Given the description of an element on the screen output the (x, y) to click on. 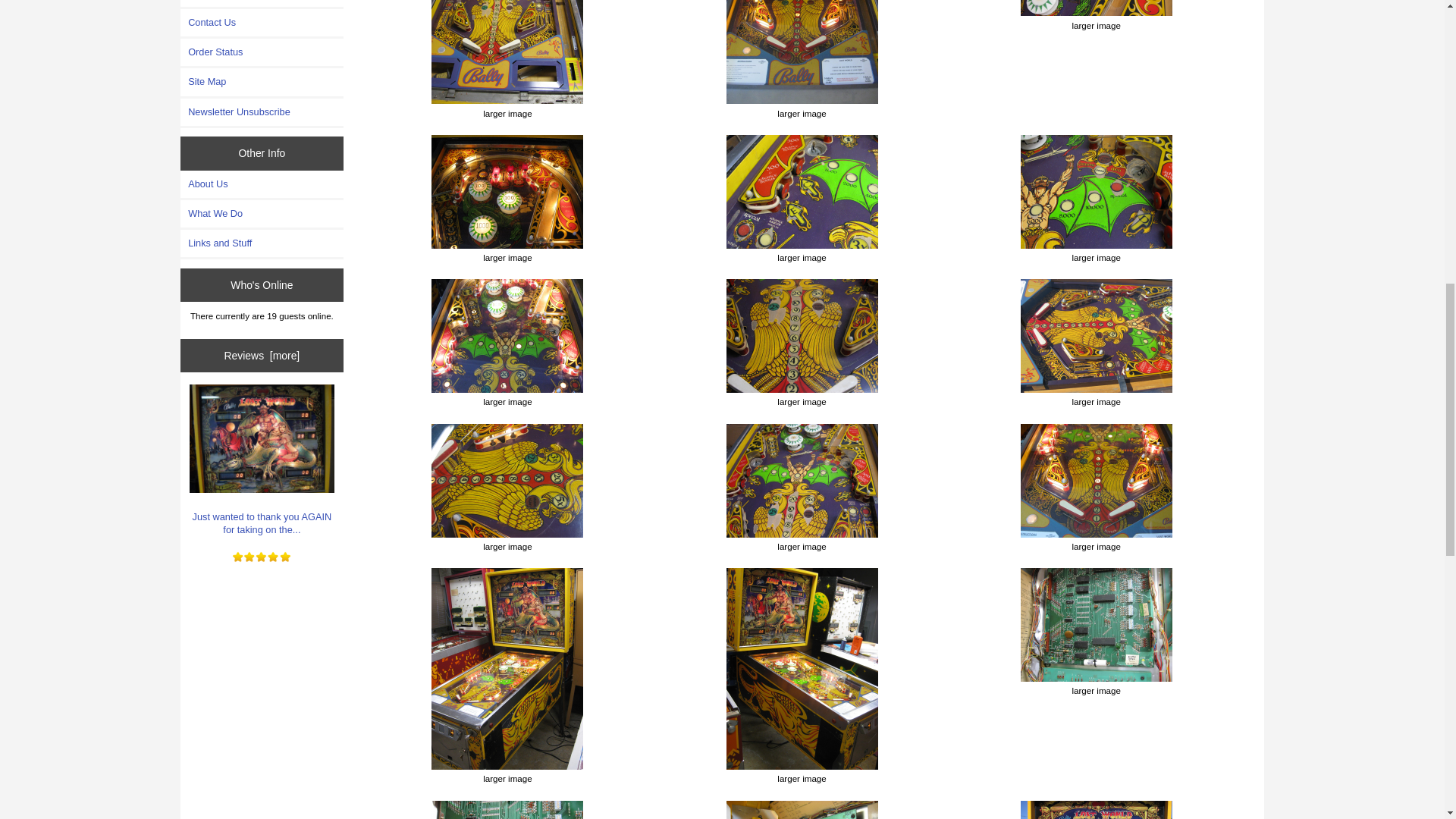
Links and Stuff (261, 243)
Lost World Pinball by Bally 1978 (1096, 480)
Newsletter Unsubscribe (261, 112)
5 of 5 Stars! (261, 556)
Lost World Pinball by Bally 1978 (801, 480)
Lost World Pinball by Bally 1978 (1096, 336)
What We Do (261, 213)
Just wanted to thank you AGAIN for taking on the... (261, 459)
Lost World Pinball by Bally 1978 (506, 809)
Lost World Pinball by Bally 1978 (506, 52)
Lost World Pinball by Bally 1978 (801, 52)
Contact Us (261, 22)
Lost World Pinball by Bally 1978 (801, 336)
Lost World Pinball by Bally 1978 (801, 191)
Lost World Pinball by Bally 1978 (506, 191)
